Given the description of an element on the screen output the (x, y) to click on. 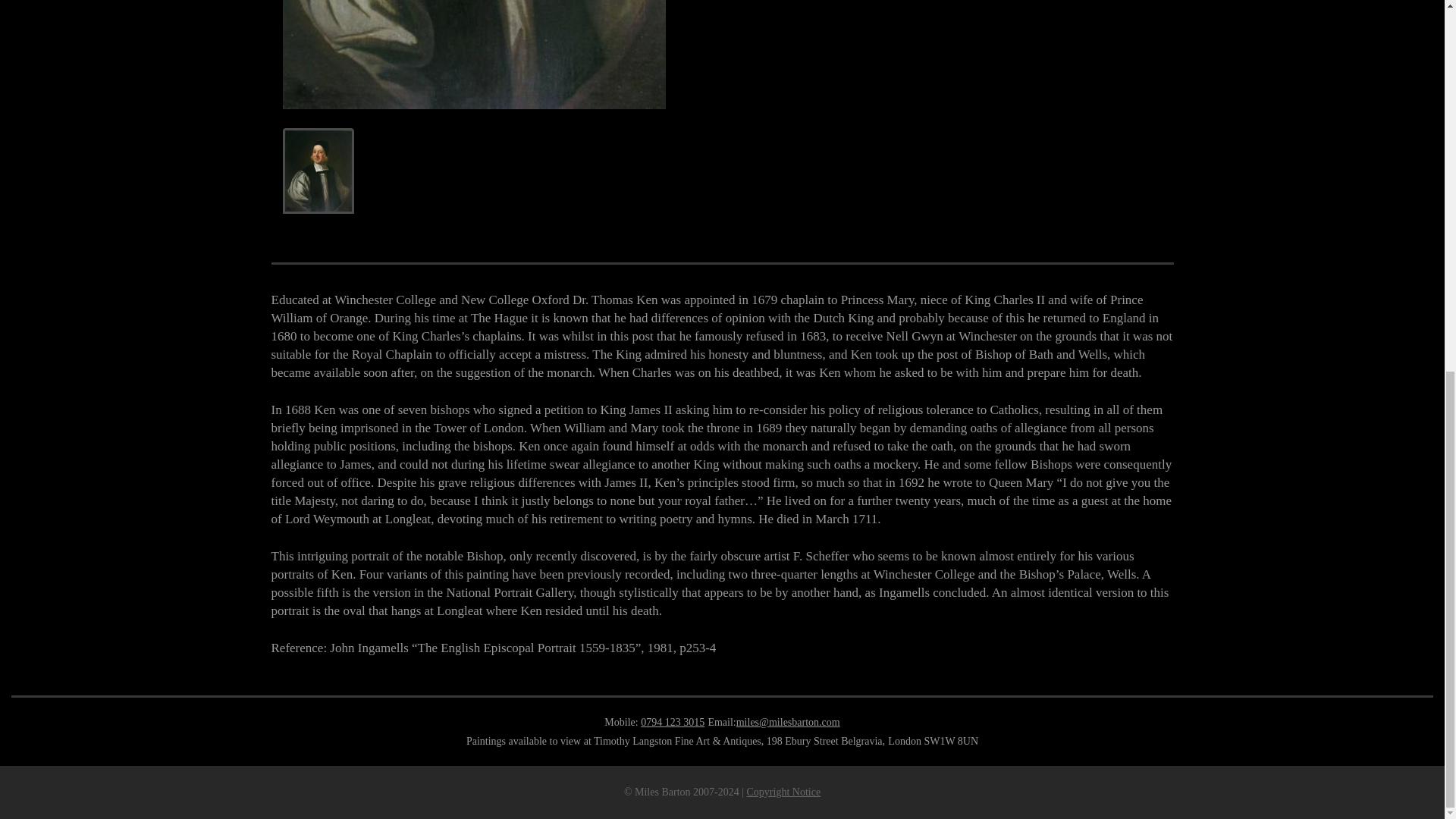
Copyright Notice (783, 791)
0794 123 3015 (672, 722)
